Given the description of an element on the screen output the (x, y) to click on. 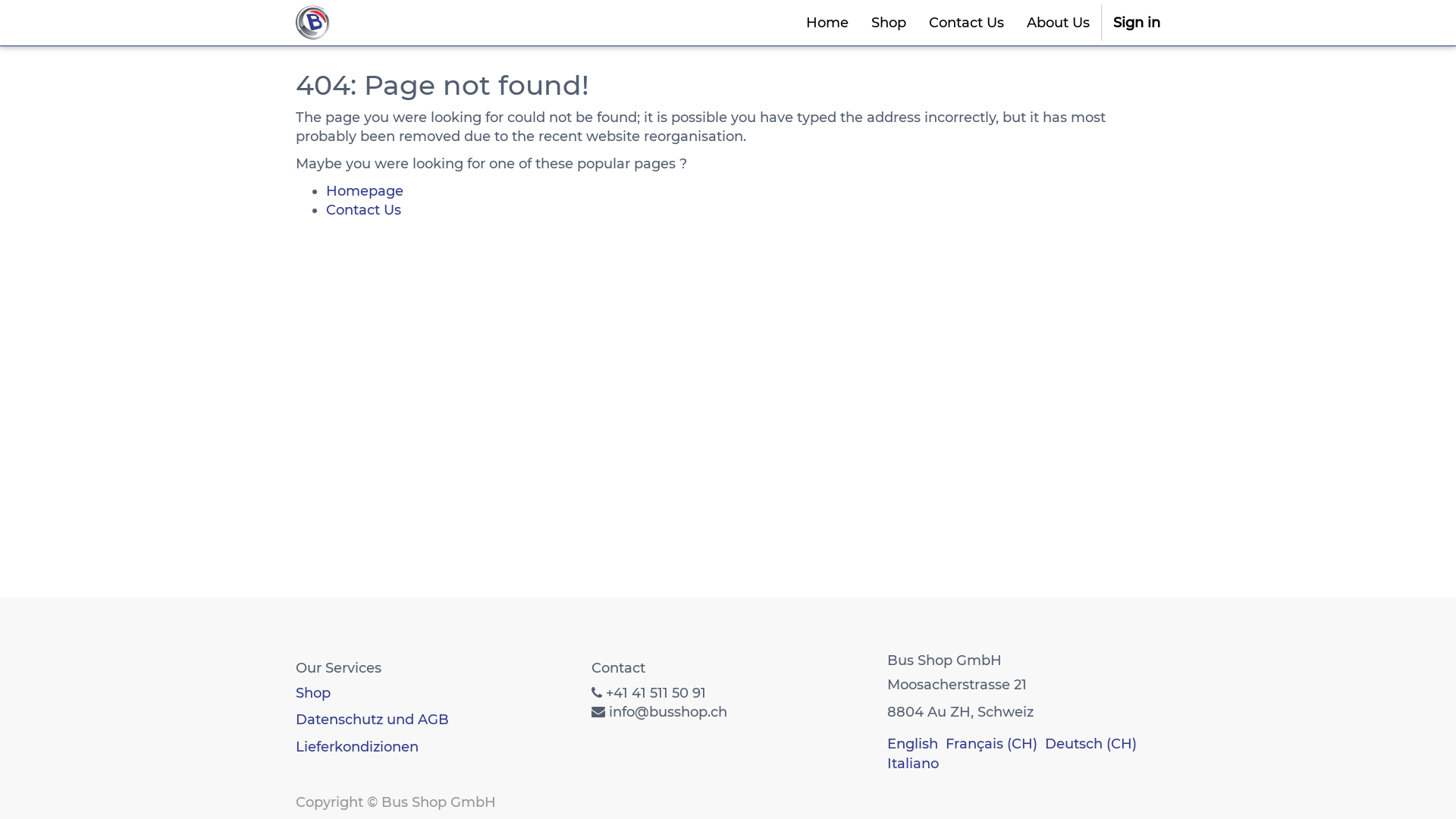
About Us Element type: text (1058, 22)
English Element type: text (912, 743)
Shop Element type: text (888, 22)
Homepage Element type: text (364, 190)
Home Element type: text (826, 22)
Contact Us Element type: text (363, 209)
Deutsch (CH) Element type: text (1090, 743)
Sign in Element type: text (1136, 22)
Datenschutz und AGB Element type: text (371, 719)
Italiano Element type: text (912, 763)
Contact Us Element type: text (966, 22)
Lieferkondizionen Element type: text (356, 746)
Bus Shop GmbH Element type: hover (313, 22)
Shop Element type: text (312, 692)
